Given the description of an element on the screen output the (x, y) to click on. 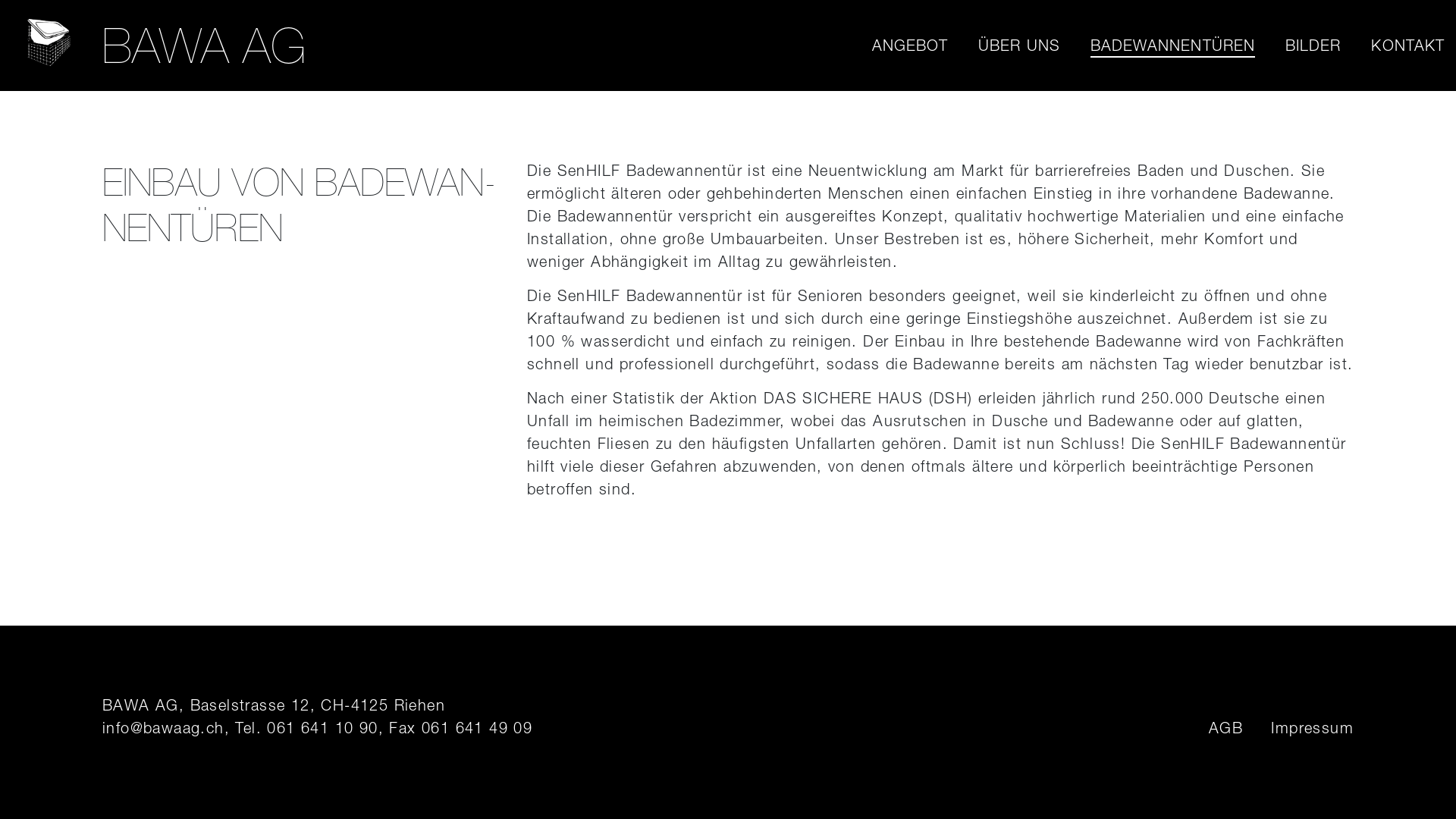
BILDER Element type: text (1312, 44)
AGB Element type: text (1225, 727)
ANGEBOT Element type: text (910, 44)
KONTAKT Element type: text (1407, 44)
Impressum Element type: text (1311, 727)
info@bawaag.ch Element type: text (163, 727)
BAWA AG Element type: text (49, 45)
